Given the description of an element on the screen output the (x, y) to click on. 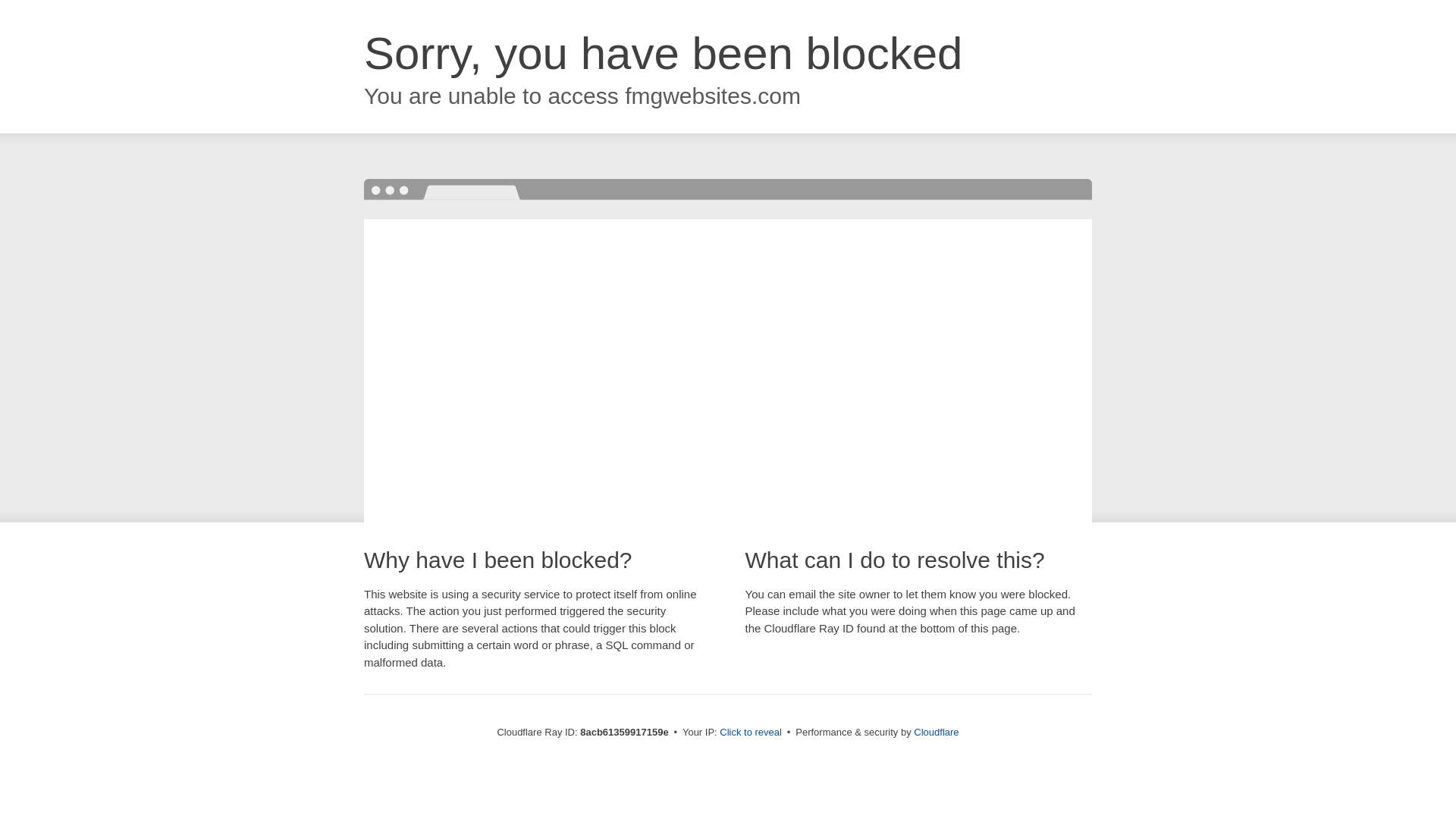
Click to reveal (750, 732)
Cloudflare (936, 731)
